Given the description of an element on the screen output the (x, y) to click on. 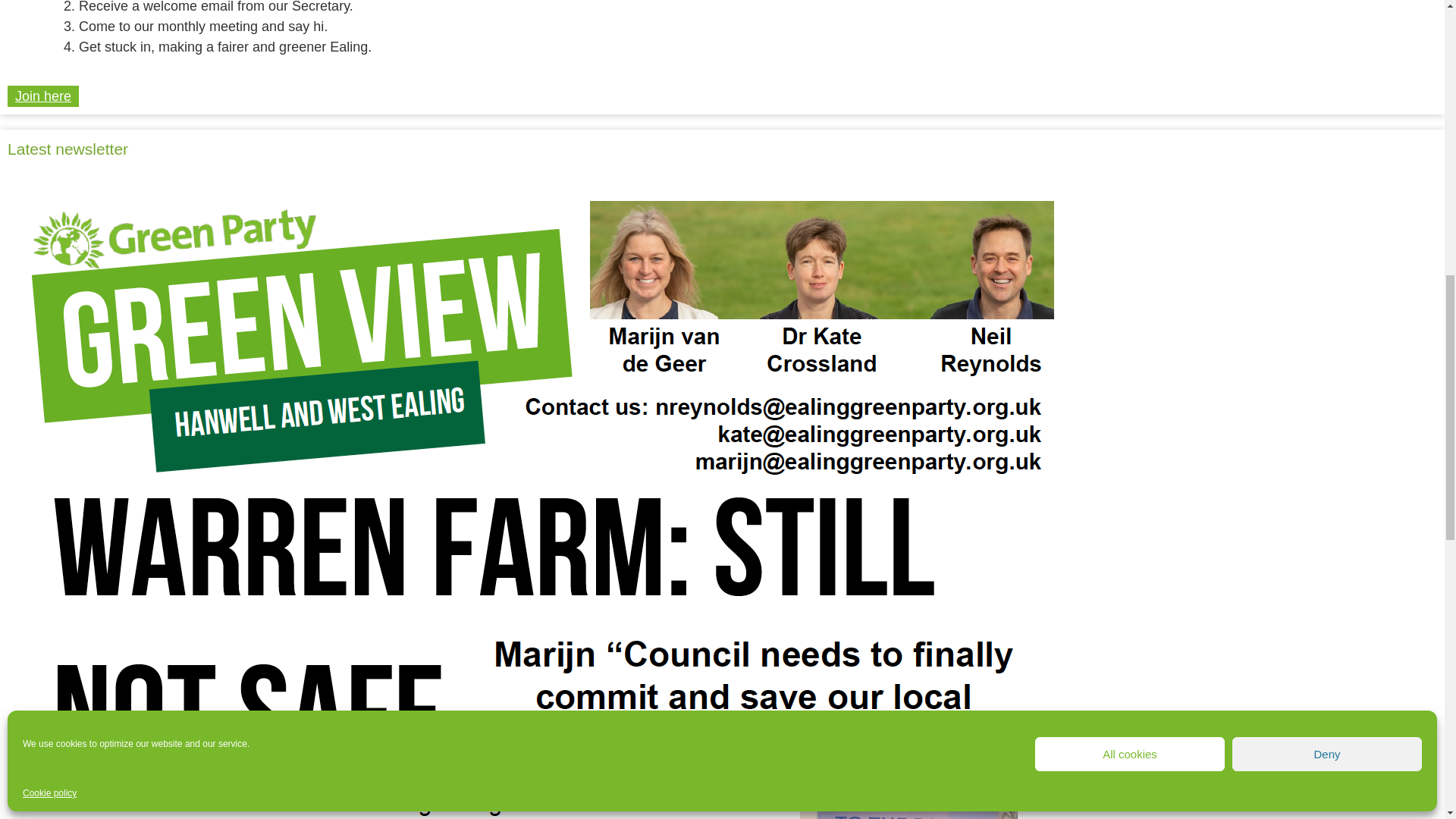
Join here (42, 96)
Join here (42, 96)
